Given the description of an element on the screen output the (x, y) to click on. 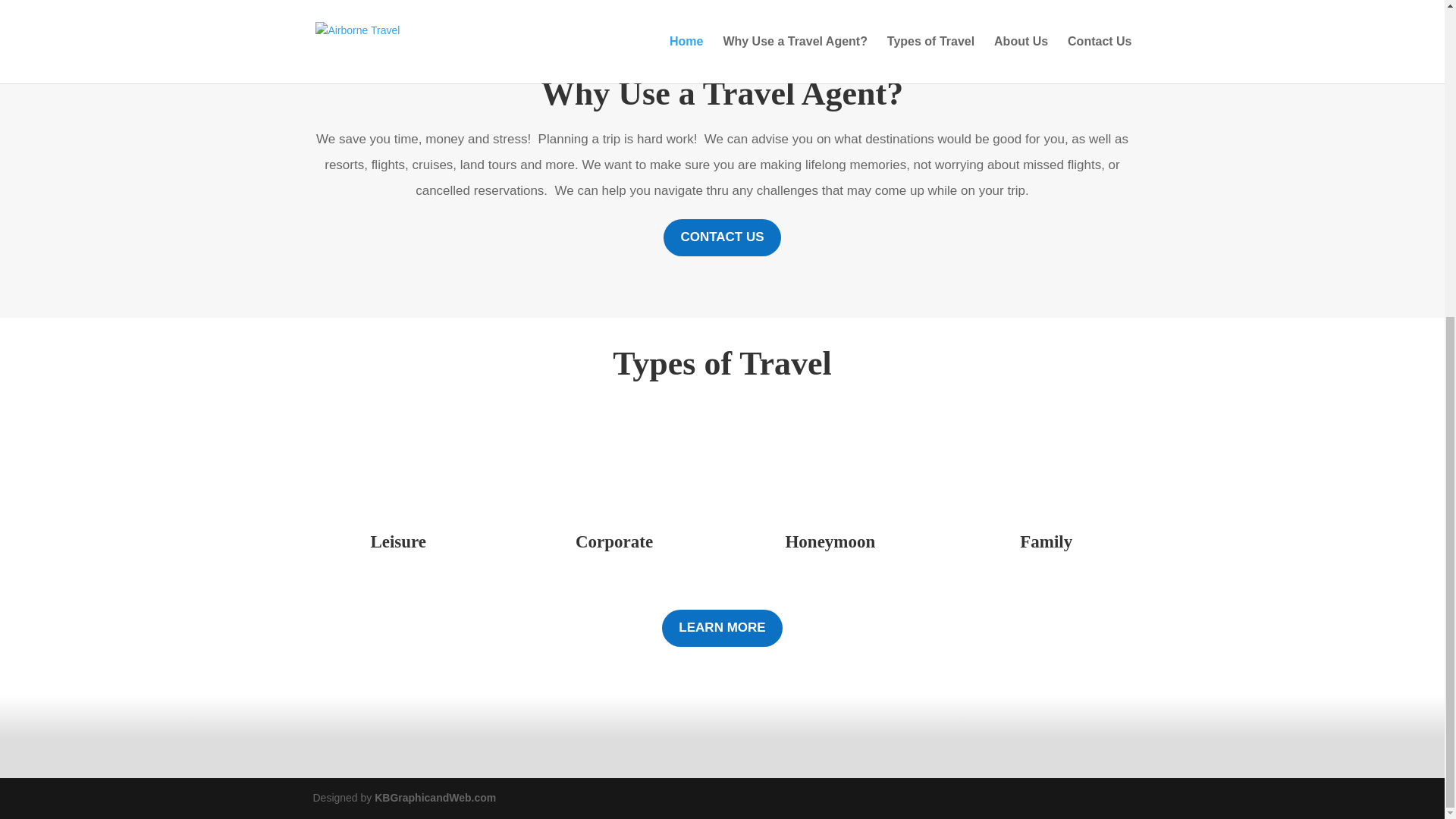
CONTACT US (721, 237)
KBGraphicandWeb.com (435, 797)
LEARN MORE (721, 628)
